Given the description of an element on the screen output the (x, y) to click on. 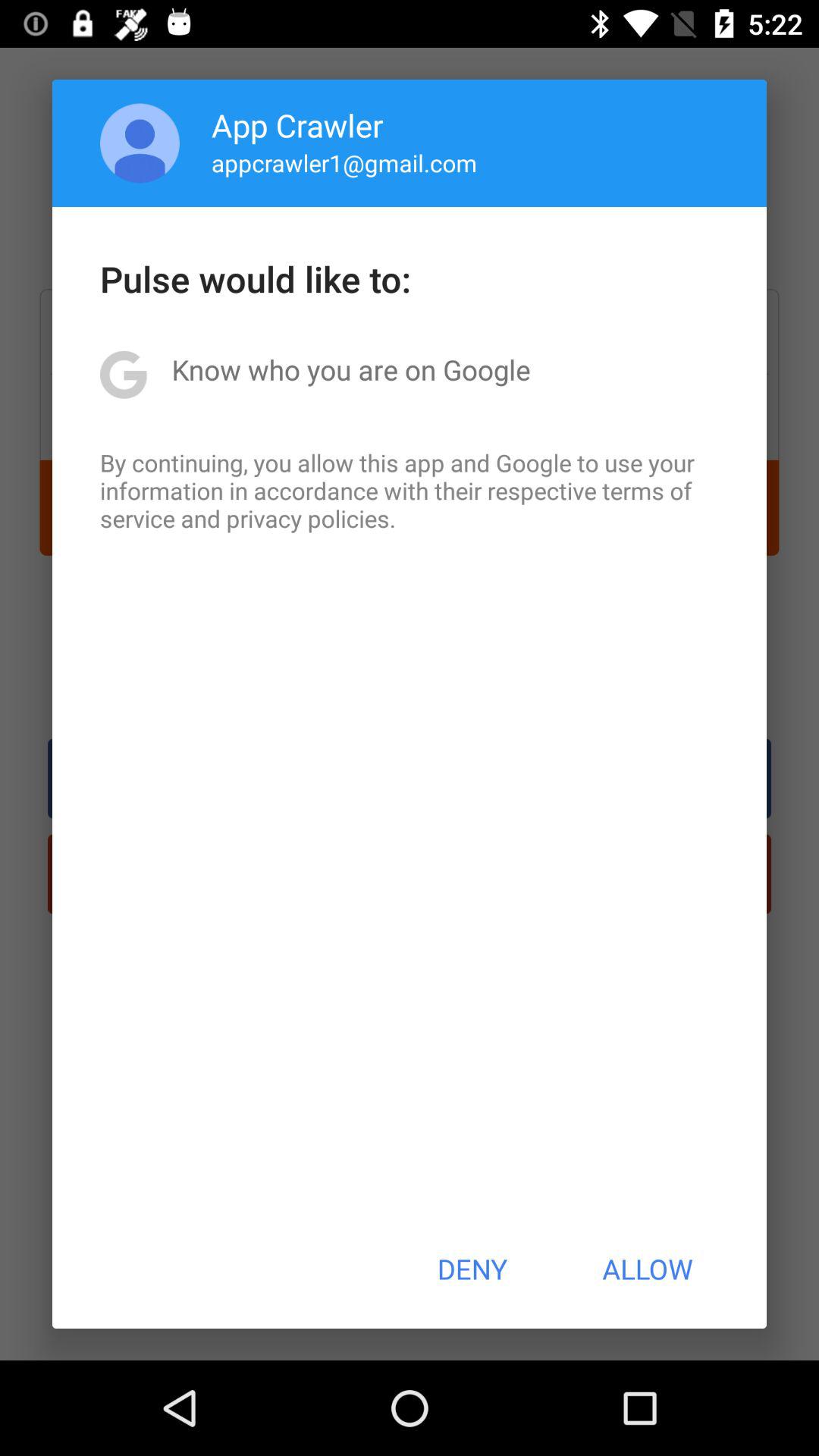
turn on the icon at the bottom (471, 1268)
